Given the description of an element on the screen output the (x, y) to click on. 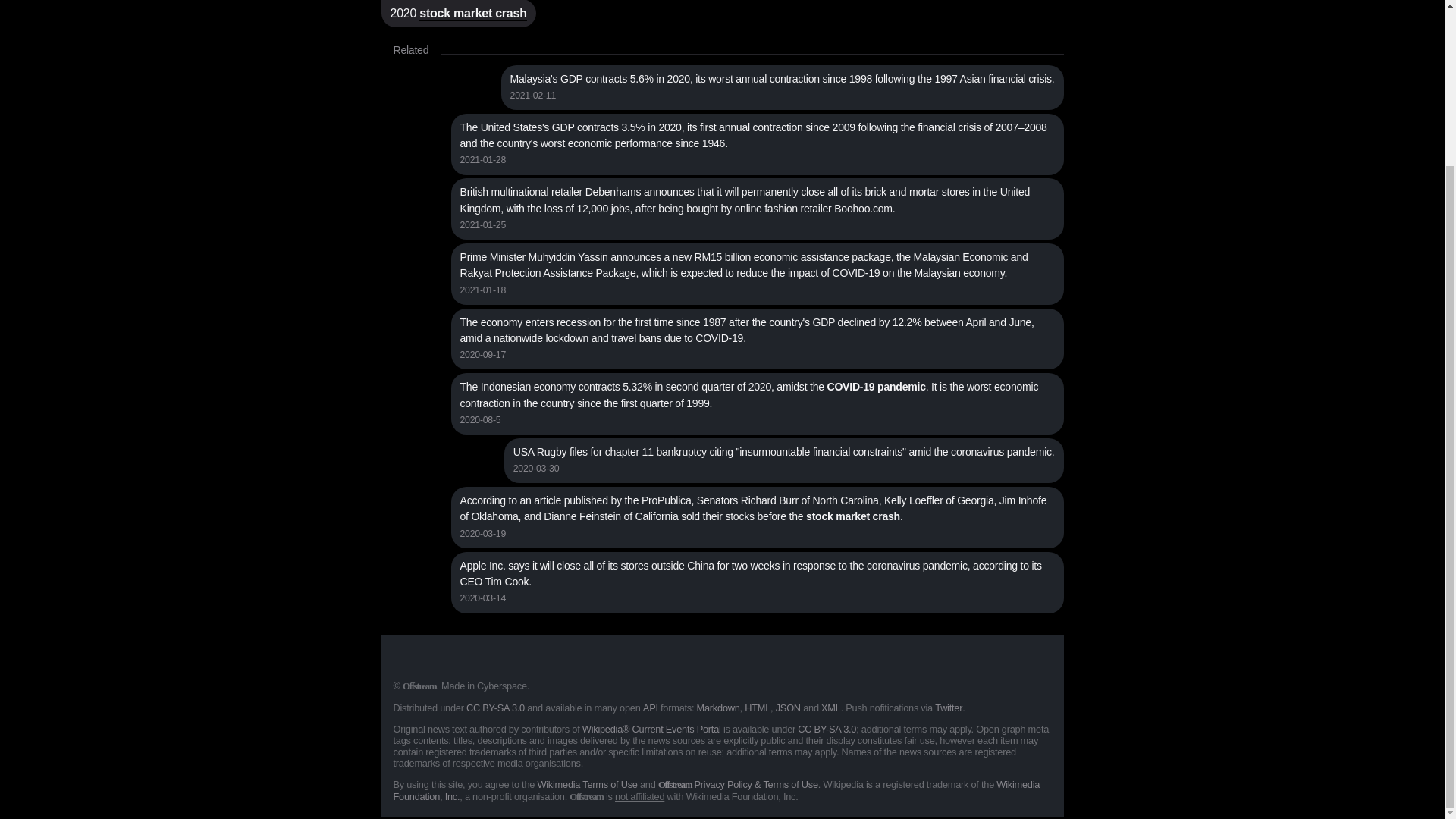
Creative Commons Attribution-ShareAlike License (494, 707)
stock market crash (472, 13)
HTML (757, 707)
Wikimedia Terms of Use (587, 784)
CC BY-SA 3.0 (494, 707)
Twitter (948, 707)
Wikimedia Foundation, Inc. (716, 790)
